Given the description of an element on the screen output the (x, y) to click on. 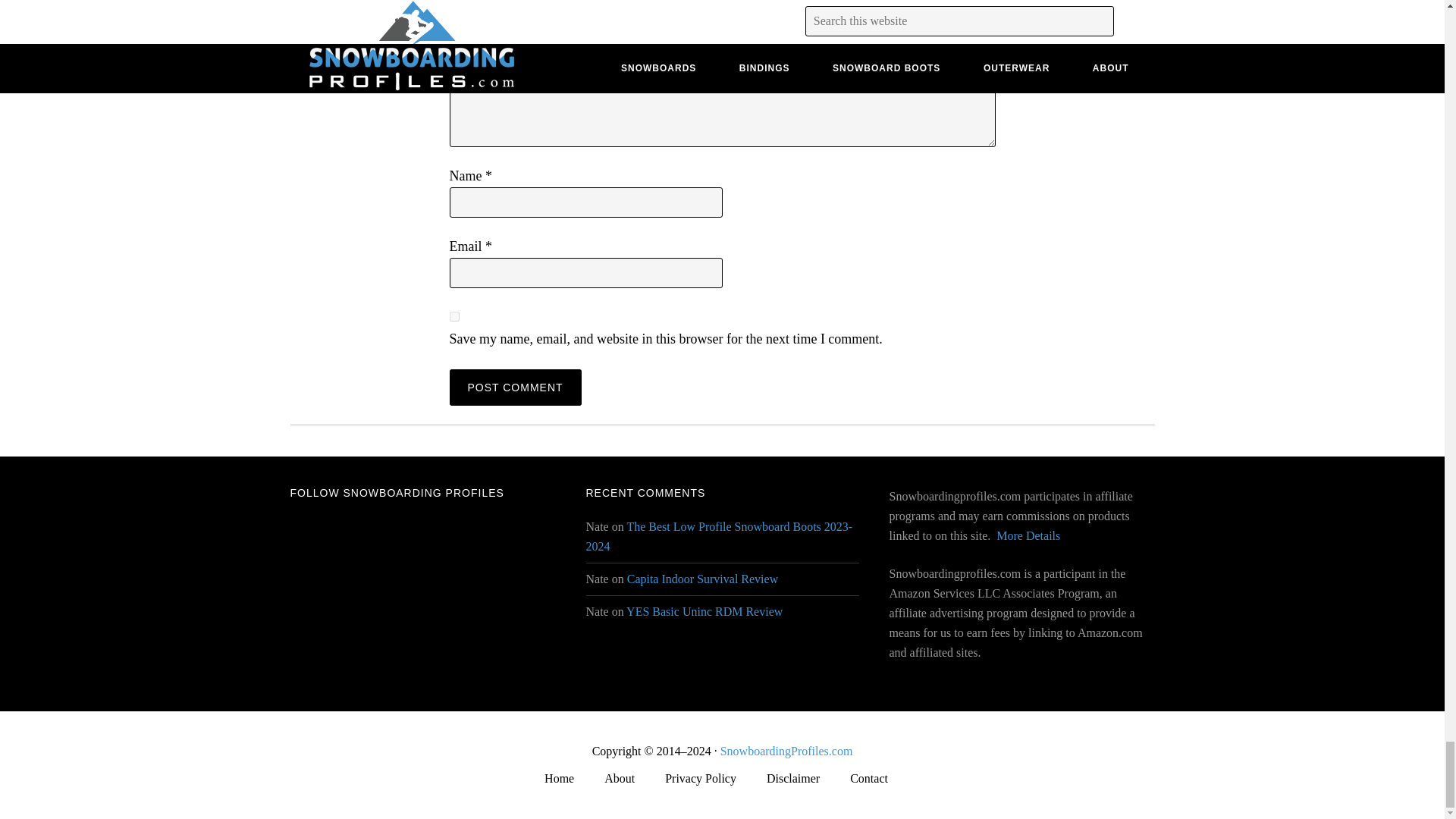
yes (453, 316)
Post Comment (514, 387)
